Given the description of an element on the screen output the (x, y) to click on. 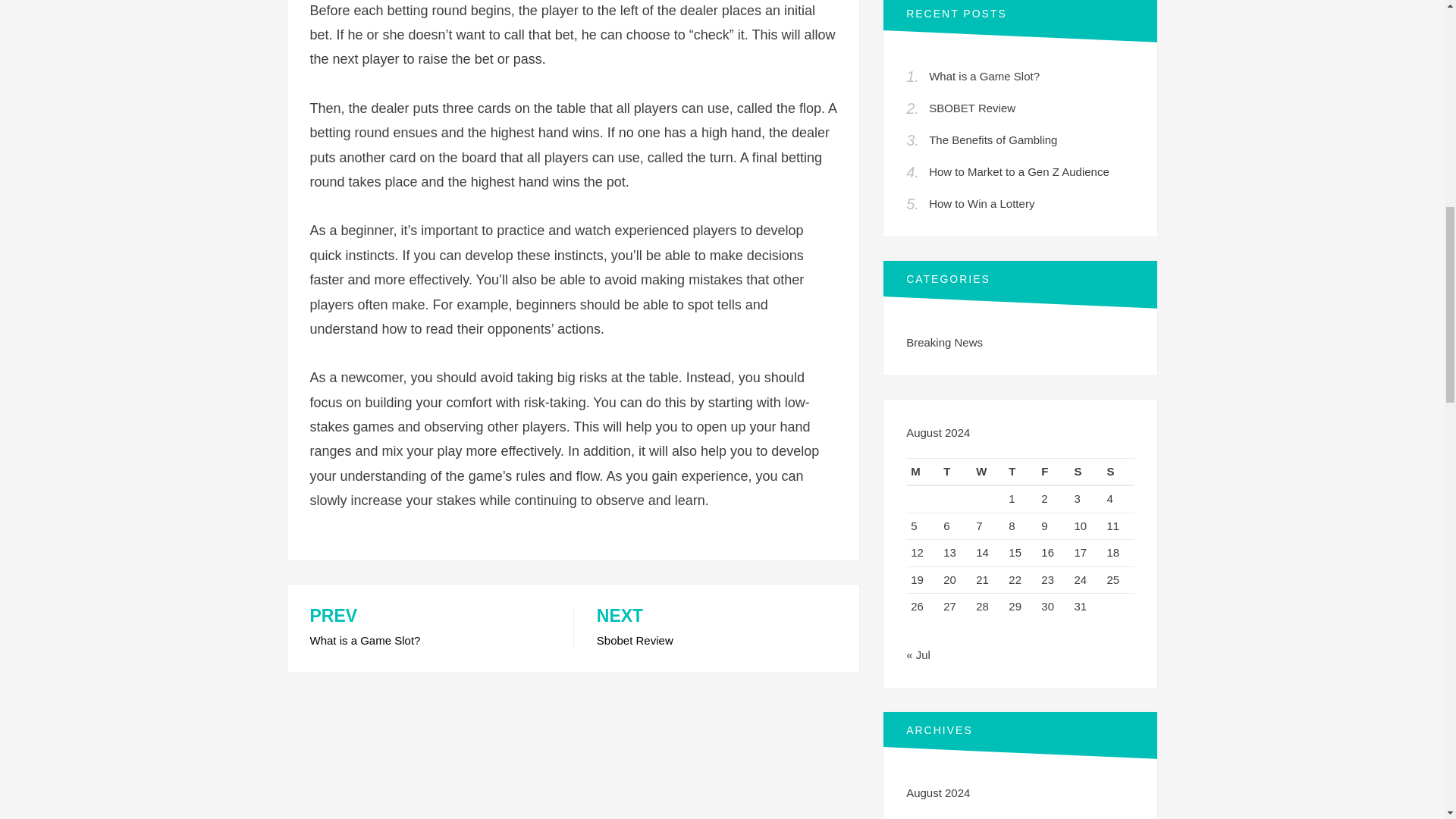
Tuesday (955, 471)
Breaking News (943, 341)
Friday (1052, 471)
Thursday (1020, 471)
11 (1112, 525)
Wednesday (987, 471)
Saturday (1085, 471)
How to Market to a Gen Z Audience (1018, 171)
How to Win a Lottery (980, 203)
13 (949, 552)
